Given the description of an element on the screen output the (x, y) to click on. 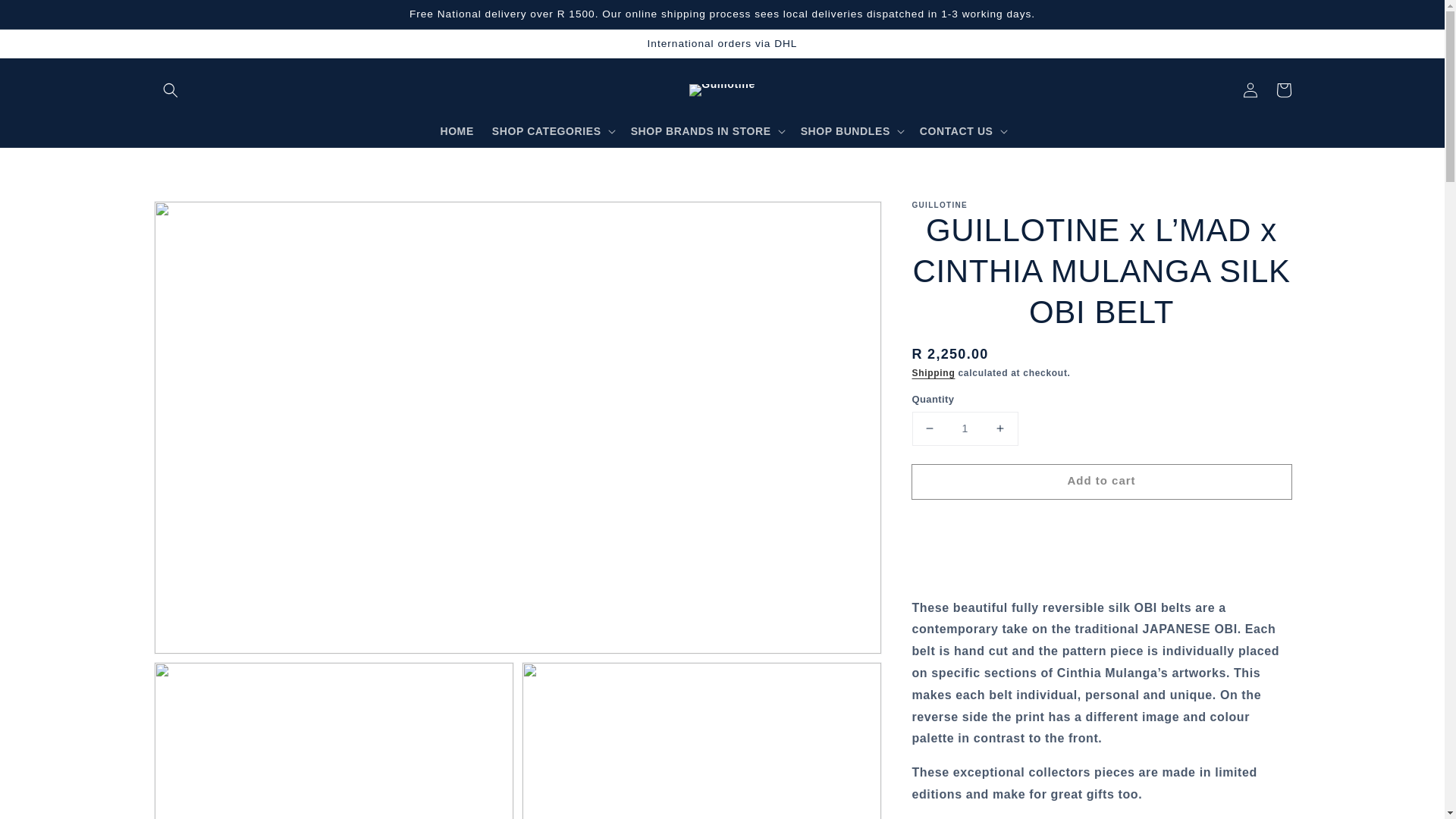
HOME (455, 131)
Skip to content (45, 16)
1 (964, 428)
